Given the description of an element on the screen output the (x, y) to click on. 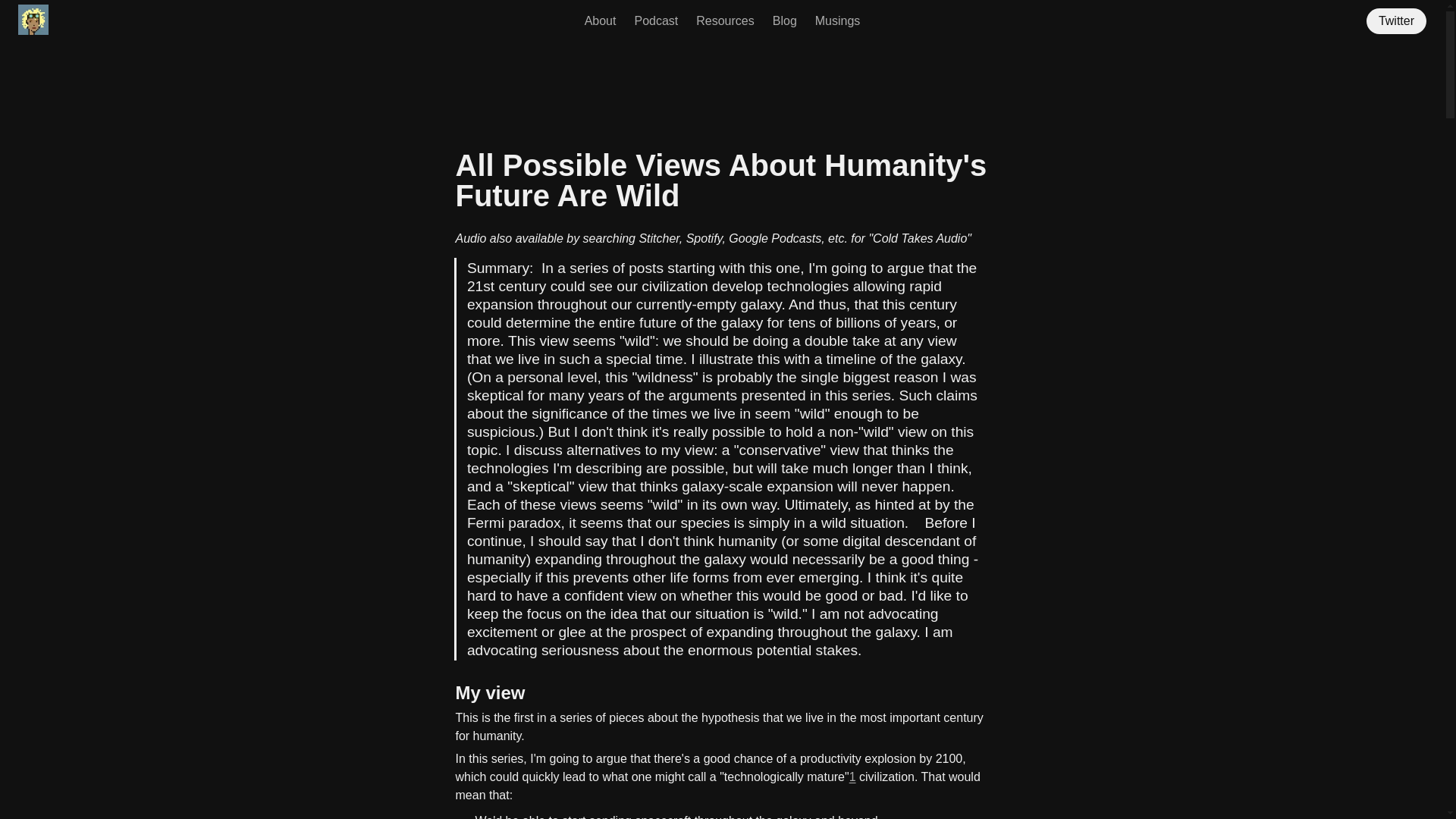
Twitter (1399, 21)
Blog (784, 21)
Podcast (655, 21)
Musings (837, 21)
About (600, 21)
Resources (724, 21)
